Given the description of an element on the screen output the (x, y) to click on. 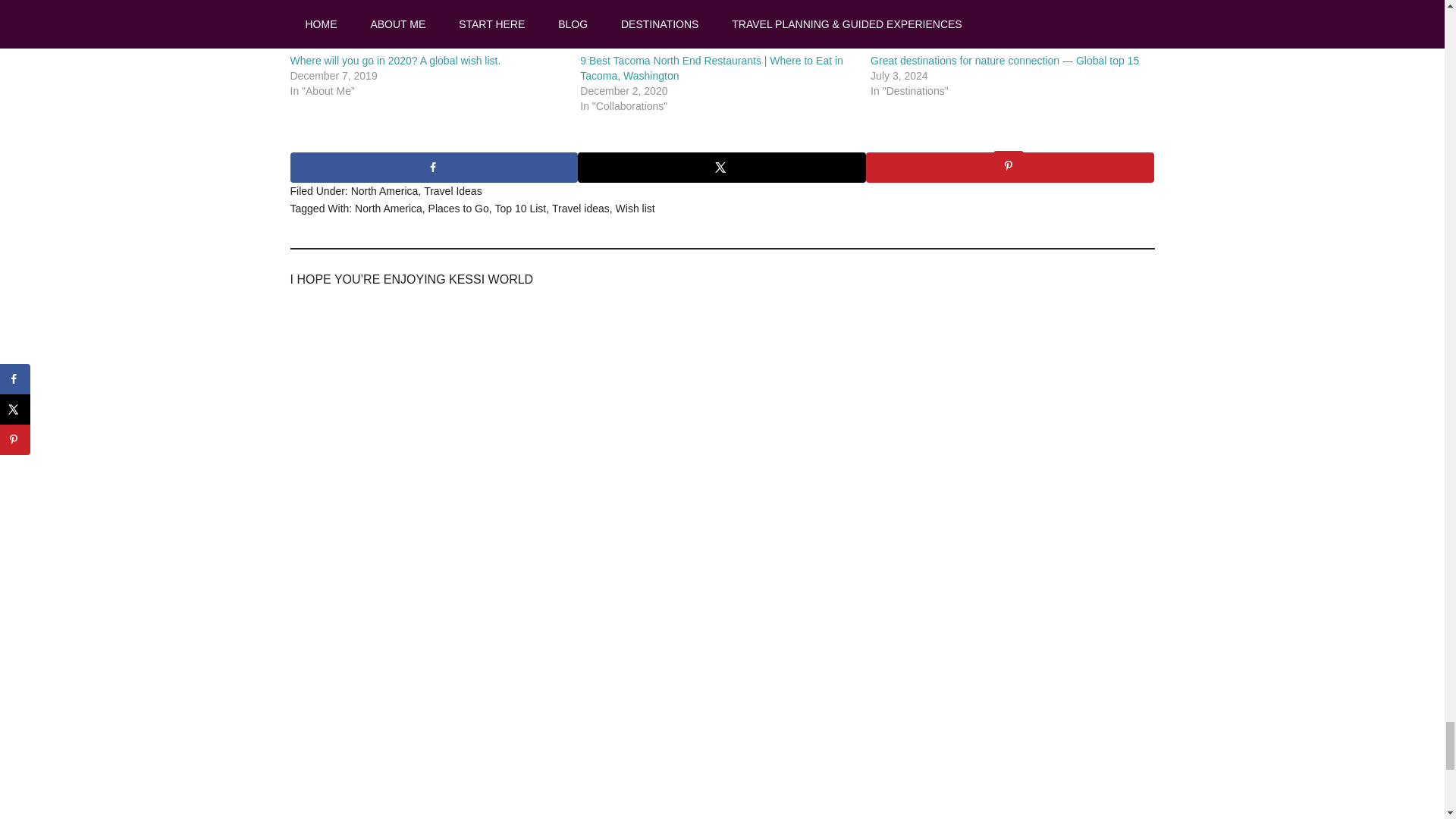
Share on Facebook (433, 167)
Save to Pinterest (1010, 167)
Where will you go in 2020?  A global wish list. (394, 60)
Where will you go in 2020?  A global wish list. (426, 26)
Share on X (722, 167)
